Given the description of an element on the screen output the (x, y) to click on. 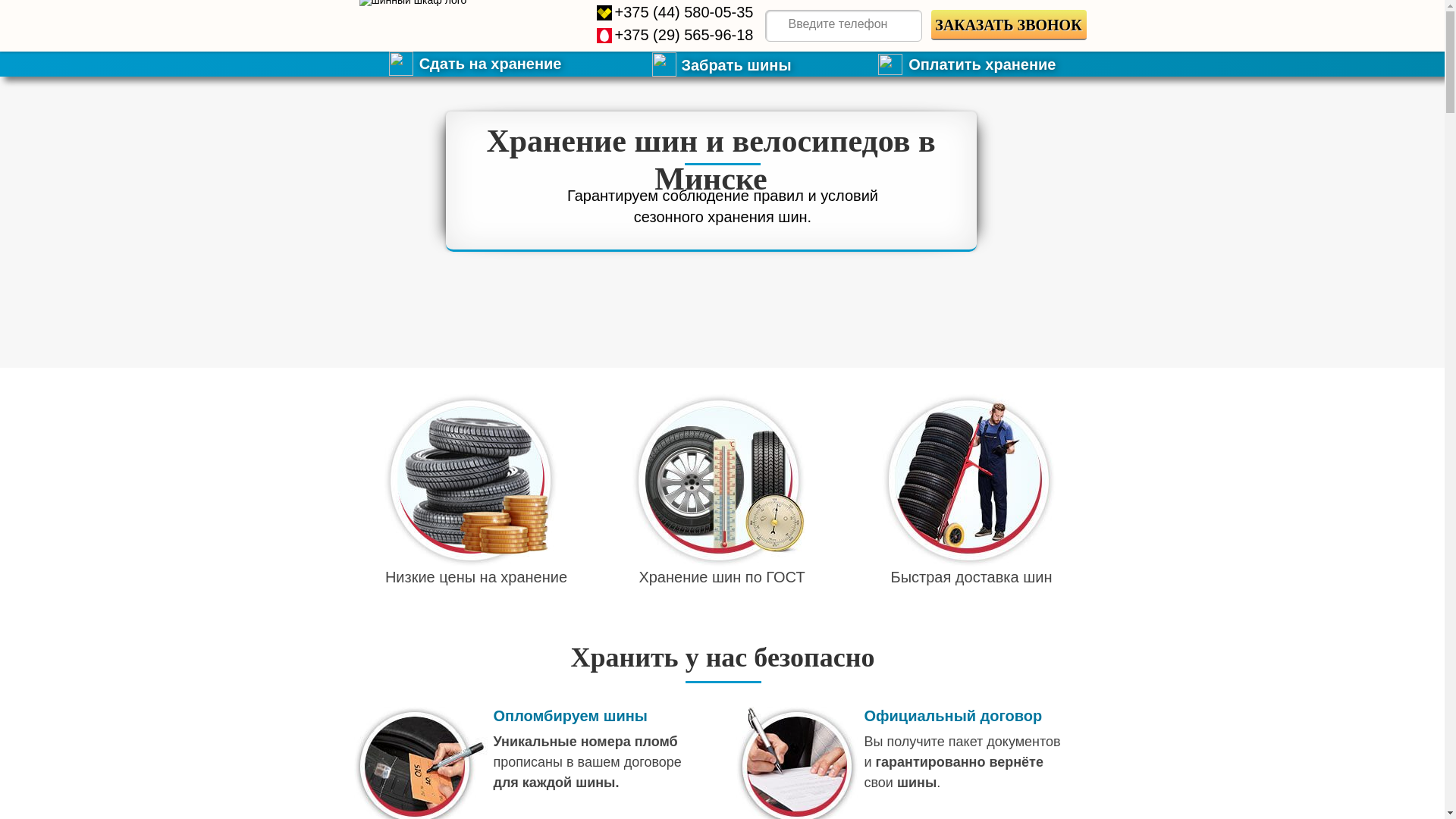
animate fade s2 d2 Element type: hover (717, 480)
+375 (29) 565-96-18 Element type: text (683, 34)
animate fade s3 d3 Element type: hover (967, 480)
+375 (44) 580-05-35 Element type: text (683, 11)
animate fade s1 d1 Element type: hover (470, 480)
